Given the description of an element on the screen output the (x, y) to click on. 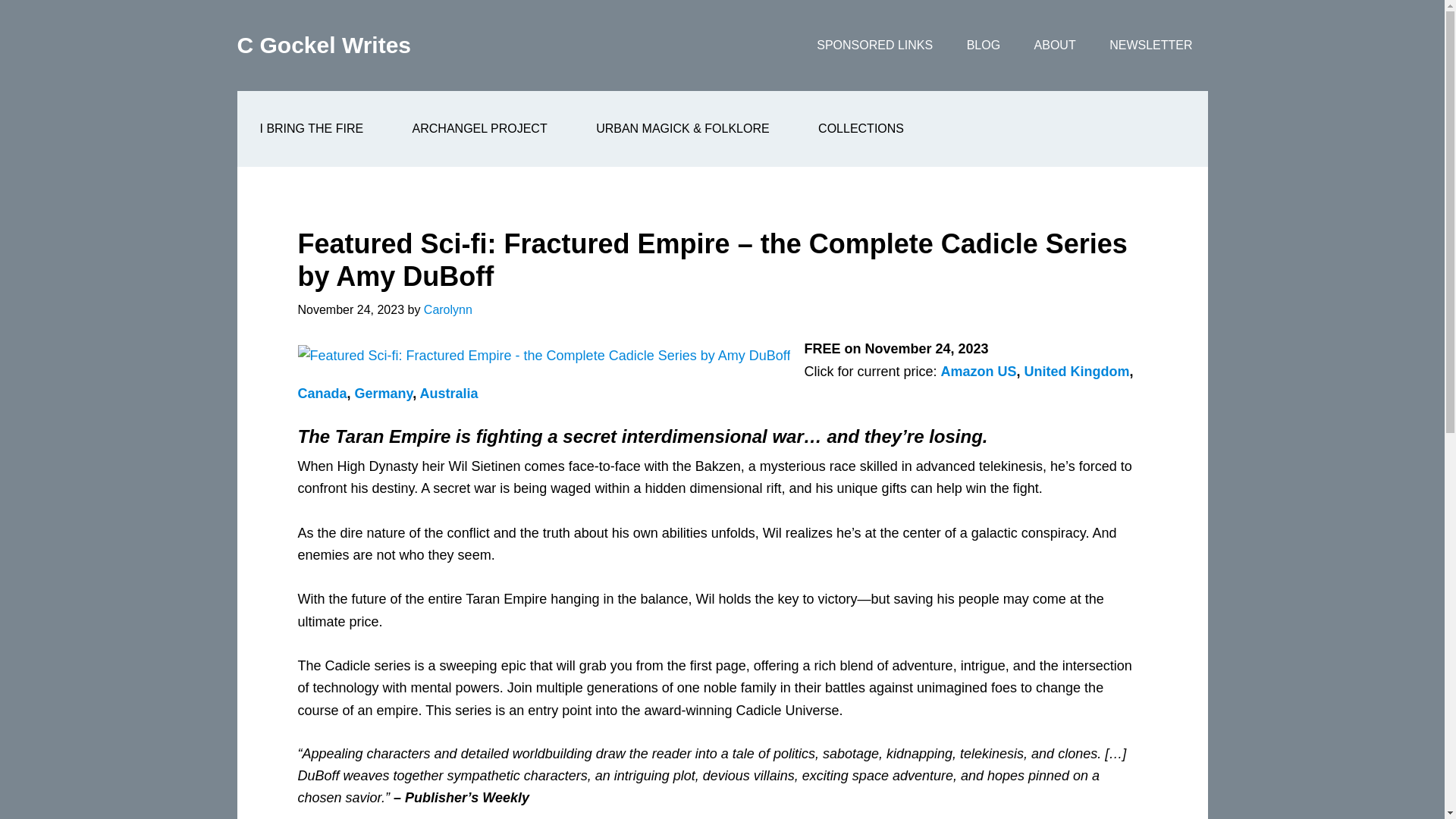
I BRING THE FIRE (310, 128)
United Kingdom (1076, 371)
Carolynn (447, 309)
Germany (384, 393)
Canada (321, 393)
COLLECTIONS (860, 128)
NEWSLETTER (1150, 45)
ARCHANGEL PROJECT (480, 128)
Amazon US (978, 371)
SPONSORED LINKS (874, 45)
